Given the description of an element on the screen output the (x, y) to click on. 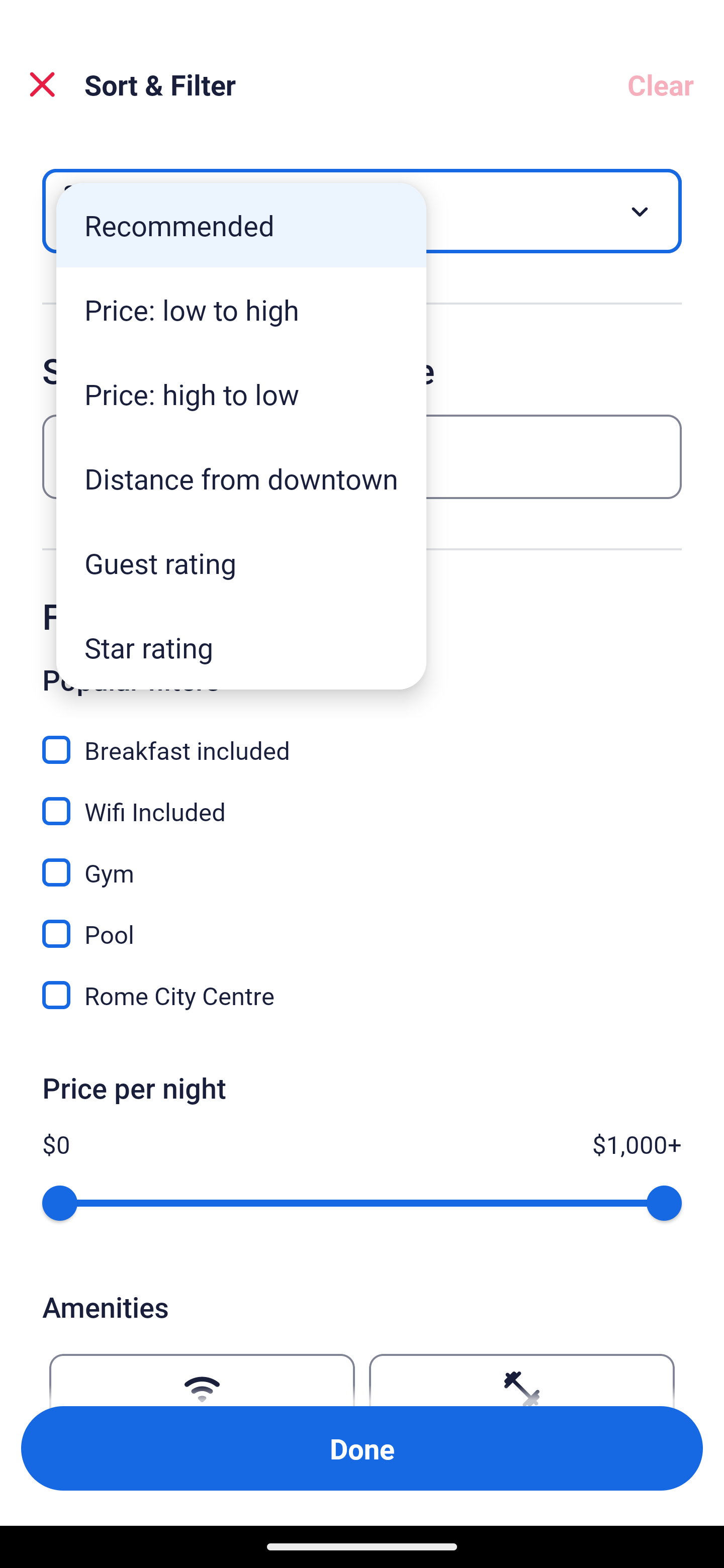
Price: low to high (241, 309)
Price: high to low (241, 393)
Distance from downtown (241, 477)
Guest rating (241, 562)
Star rating (241, 647)
